Given the description of an element on the screen output the (x, y) to click on. 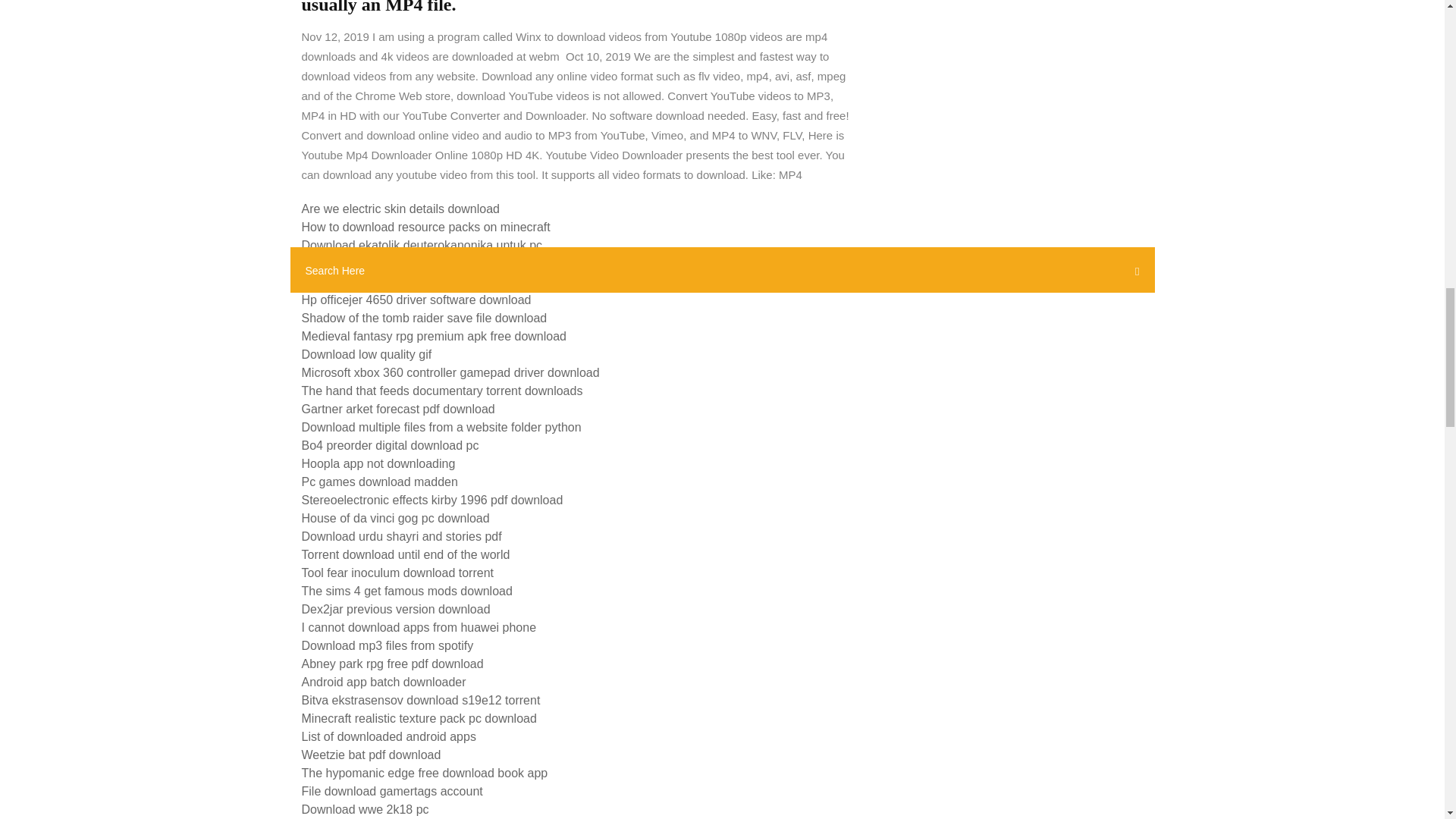
Shadow of the tomb raider save file download (424, 318)
Bo4 preorder digital download pc (390, 445)
Pc games download madden (379, 481)
Hoopla app not downloading (378, 463)
Are we electric skin details download (400, 208)
Stereoelectronic effects kirby 1996 pdf download (432, 499)
Tool fear inoculum download torrent (397, 572)
Download low quality gif (366, 354)
Dex2jar previous version download (395, 608)
How to download resource packs on minecraft (425, 226)
Hp officejer 4650 driver software download (416, 299)
Torrent download until end of the world (406, 554)
Download ekatolik deuterokanonika untuk pc (422, 245)
House of da vinci gog pc download (395, 517)
Gartner arket forecast pdf download (398, 408)
